Given the description of an element on the screen output the (x, y) to click on. 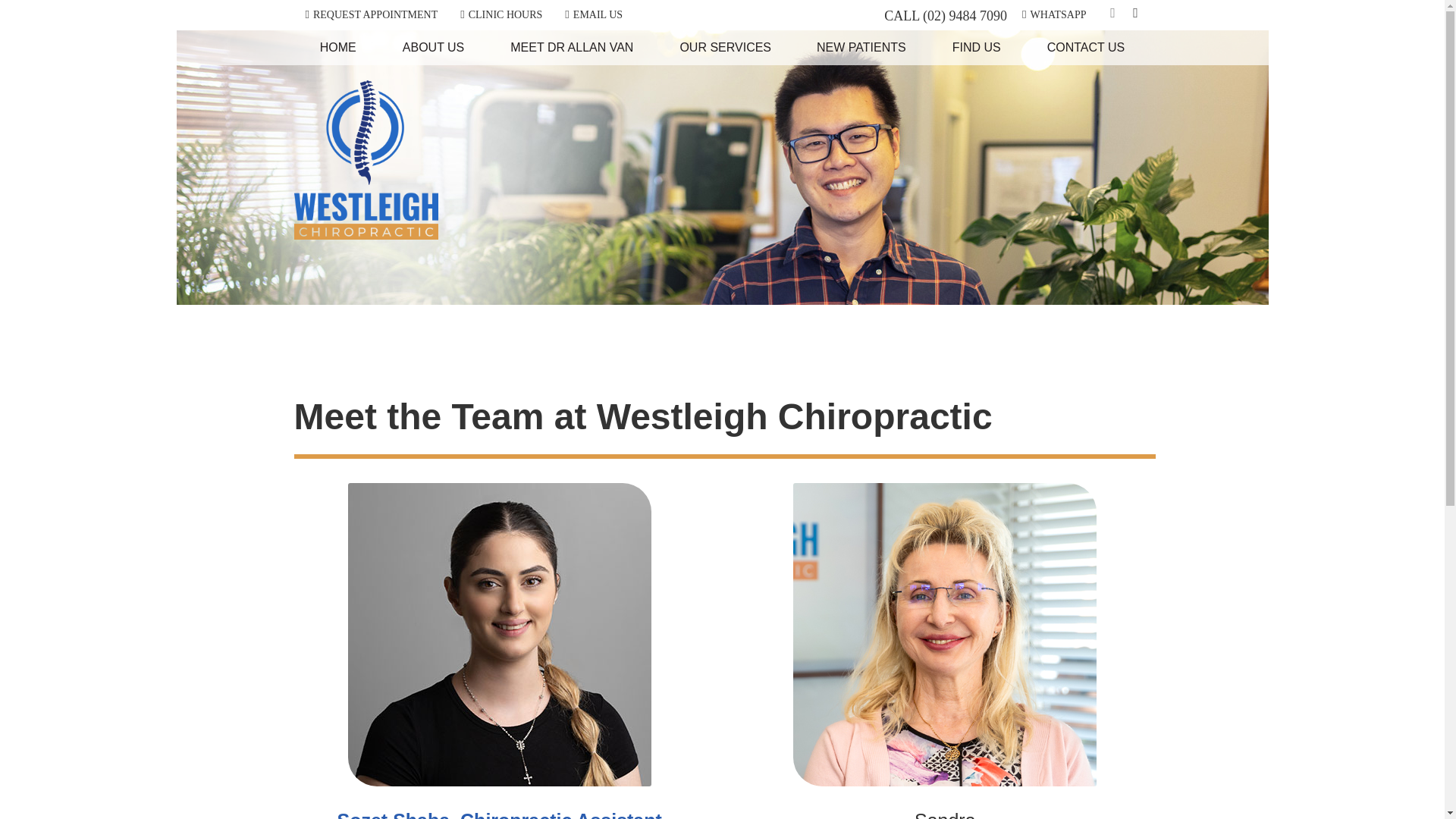
OUR SERVICES (724, 47)
Instagram Social Button (1135, 14)
ABOUT US (433, 47)
HOME (338, 47)
WHATSAPP (1053, 14)
NEW PATIENTS (861, 47)
Westleigh Chiropractic (366, 234)
MEET DR ALLAN VAN (571, 47)
CLINIC HOURS (501, 14)
CONTACT US (1086, 47)
Facebook Social Button (1112, 14)
Welcome to Westleigh Chiropractic (366, 234)
FIND US (977, 47)
EMAIL US (593, 14)
REQUEST APPOINTMENT (371, 14)
